Given the description of an element on the screen output the (x, y) to click on. 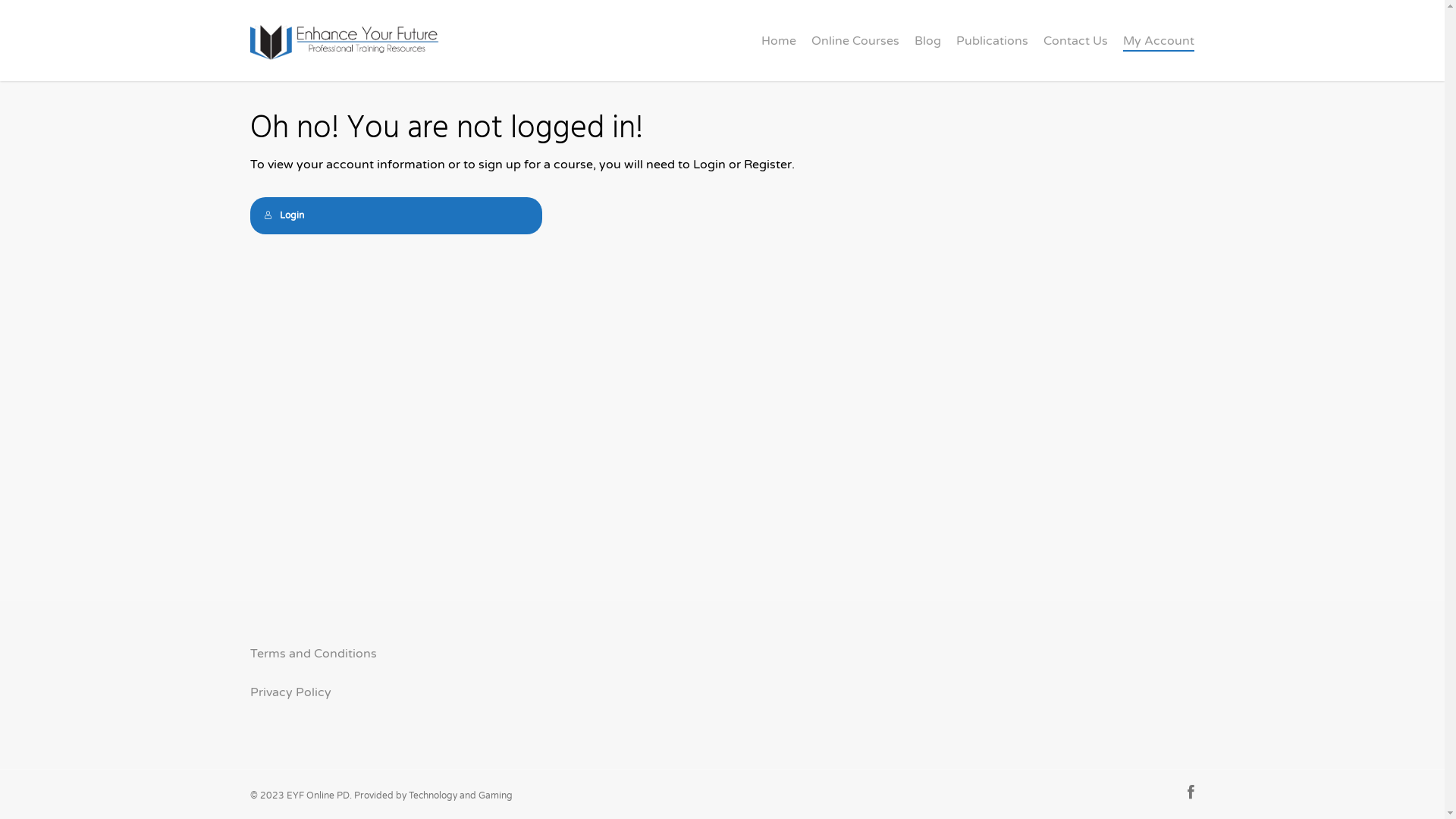
Online Courses Element type: text (855, 40)
Privacy Policy Element type: text (290, 691)
Log In Element type: text (527, 424)
My Account Element type: text (1158, 40)
Publications Element type: text (992, 40)
Terms and Conditions Element type: text (313, 653)
Home Element type: text (778, 40)
Contact Us Element type: text (1075, 40)
Login Element type: text (396, 215)
Blog Element type: text (927, 40)
